Given the description of an element on the screen output the (x, y) to click on. 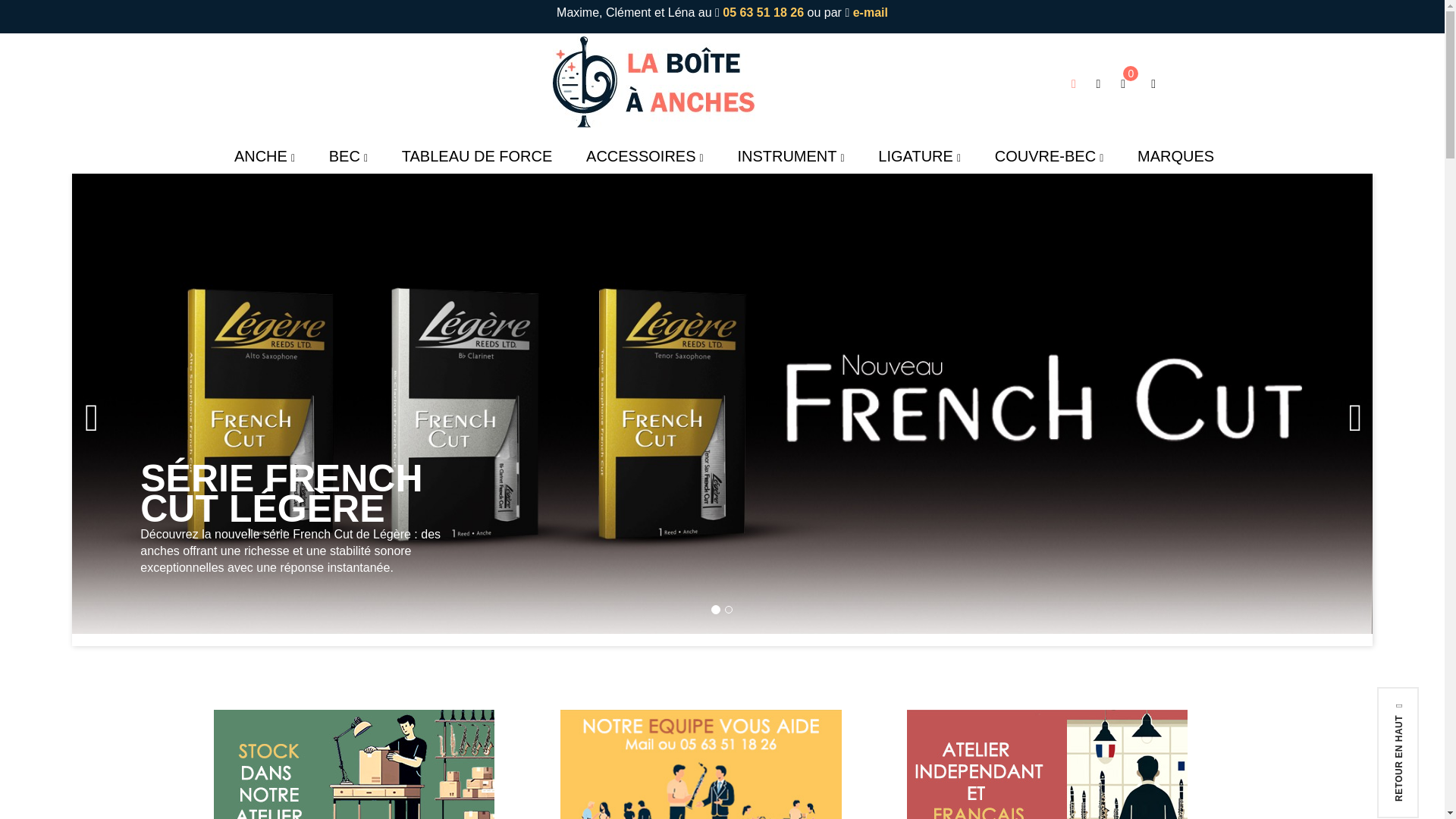
BEC (348, 155)
ANCHE (262, 155)
05 63 51 18 26 (762, 11)
e-mail (870, 11)
